Given the description of an element on the screen output the (x, y) to click on. 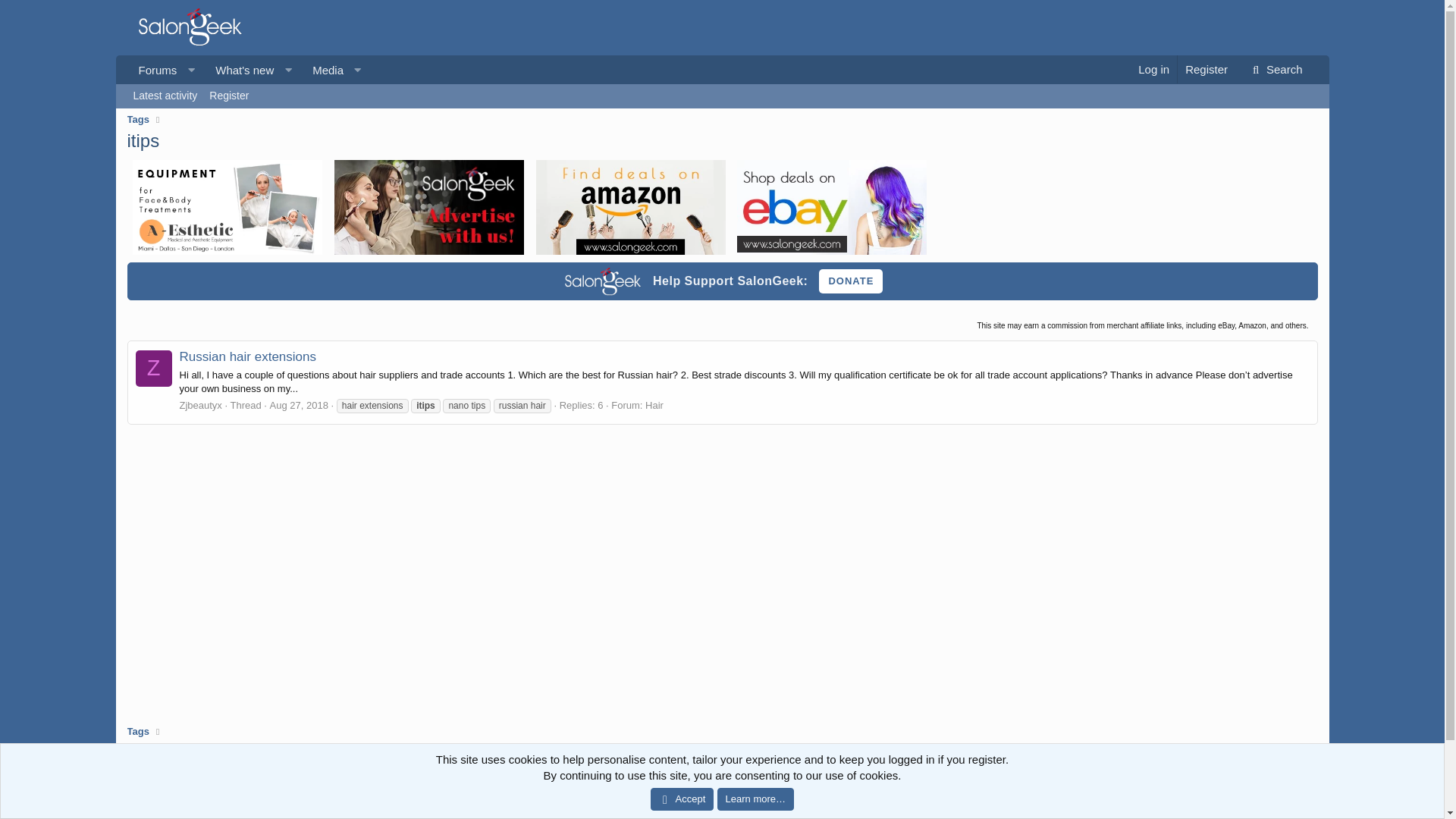
Z (153, 368)
Search (1274, 69)
Zjbeautyx (200, 405)
RSS (1308, 772)
Tags (138, 119)
Log in (1153, 69)
Search (1274, 69)
Donate (850, 281)
What's new (239, 70)
Donate (850, 281)
Russian hair extensions (247, 356)
Register (228, 96)
